Given the description of an element on the screen output the (x, y) to click on. 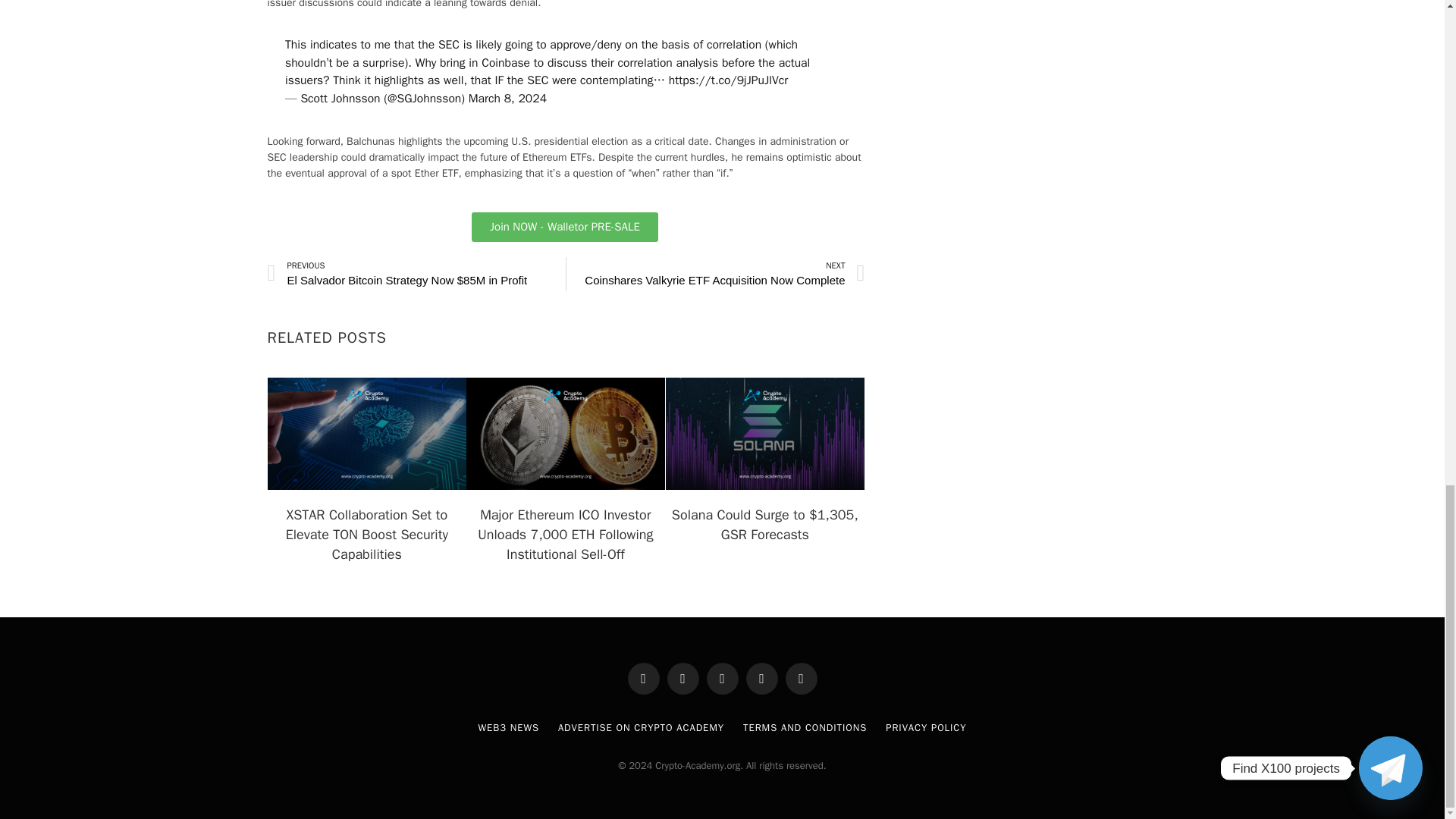
March 8, 2024 (507, 98)
